Given the description of an element on the screen output the (x, y) to click on. 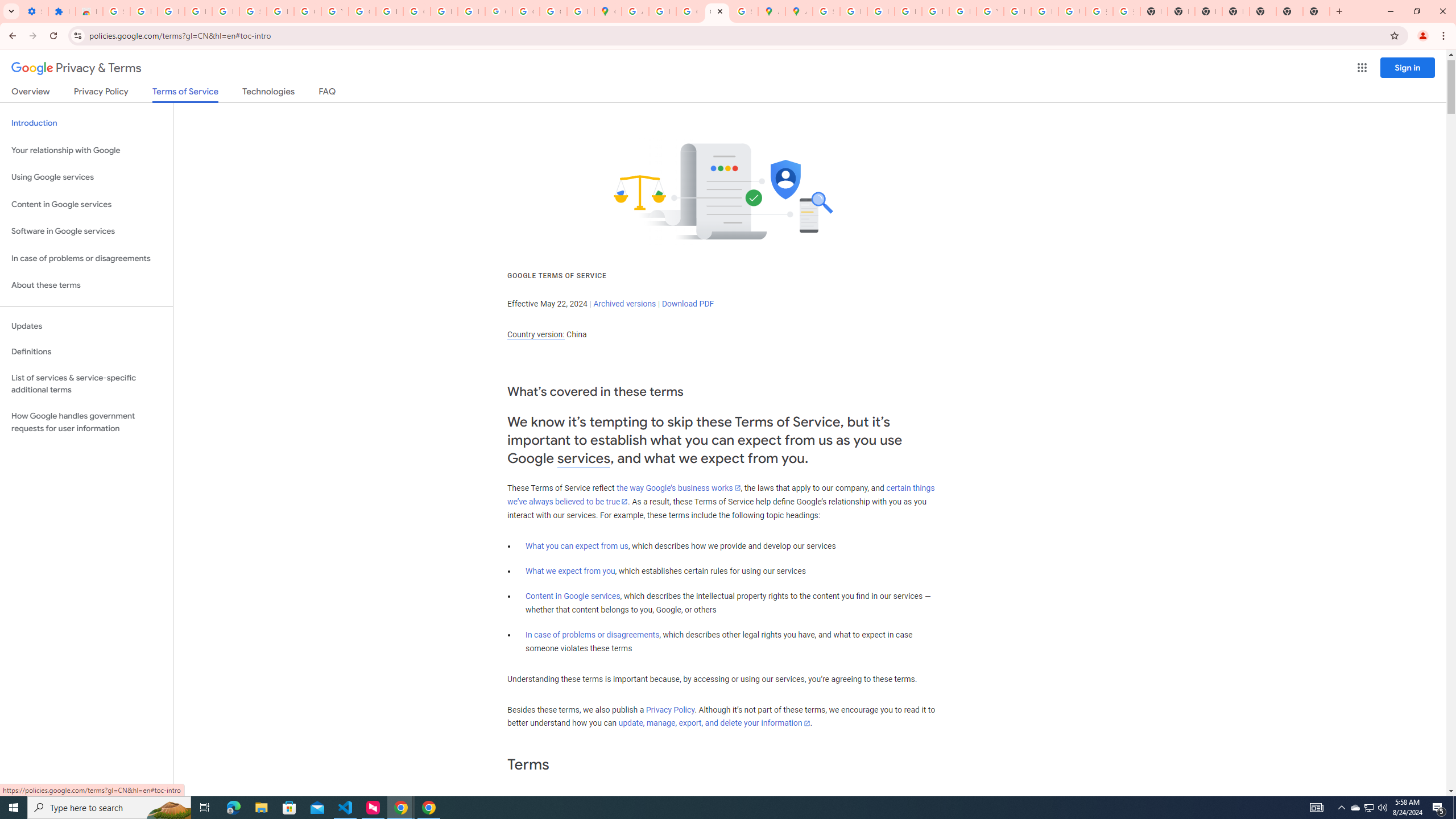
Reload (52, 35)
How Google handles government requests for user information (86, 422)
services (583, 458)
About these terms (86, 284)
System (6, 6)
Technologies (268, 93)
Google Account (307, 11)
Your relationship with Google (86, 150)
update, manage, export, and delete your information (714, 723)
Sign in - Google Accounts (116, 11)
